Given the description of an element on the screen output the (x, y) to click on. 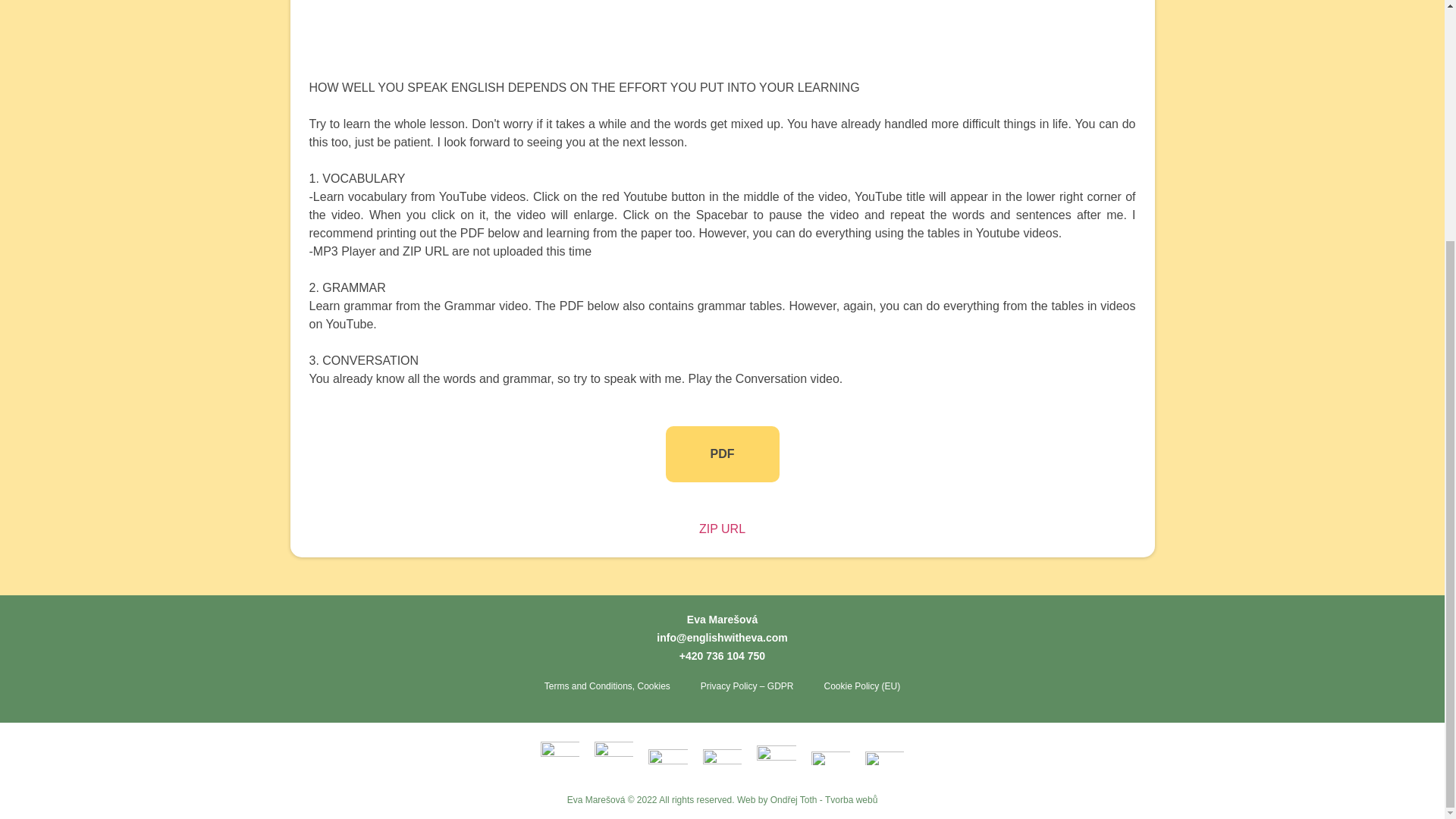
ZIP URL (721, 528)
Terms and Conditions, Cookies (607, 686)
PDF (721, 453)
